Given the description of an element on the screen output the (x, y) to click on. 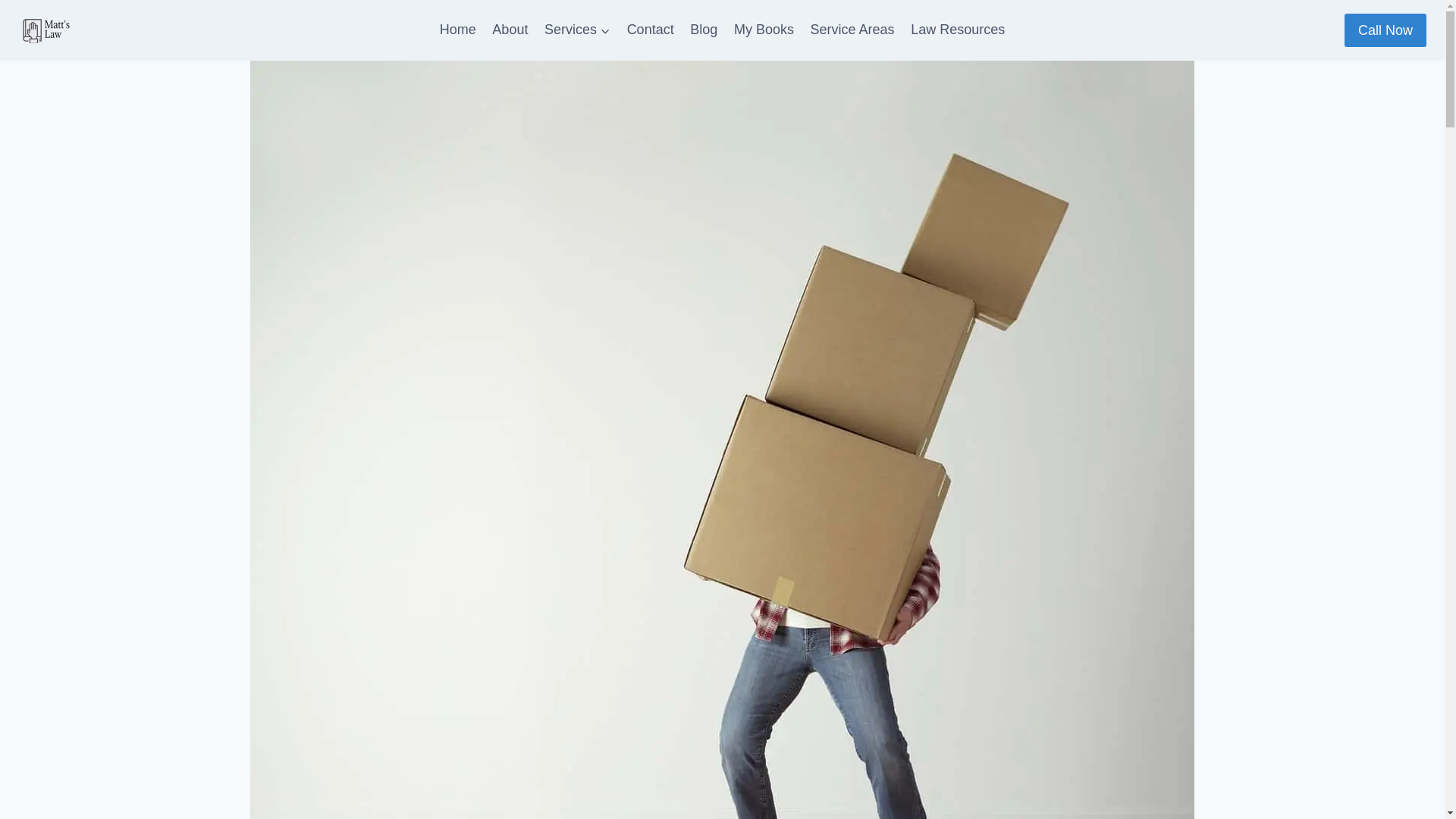
Service Areas (852, 29)
Services (576, 29)
Home (457, 29)
Law Resources (957, 29)
Blog (703, 29)
Contact (650, 29)
About (510, 29)
My Books (763, 29)
Call Now (1384, 29)
